Given the description of an element on the screen output the (x, y) to click on. 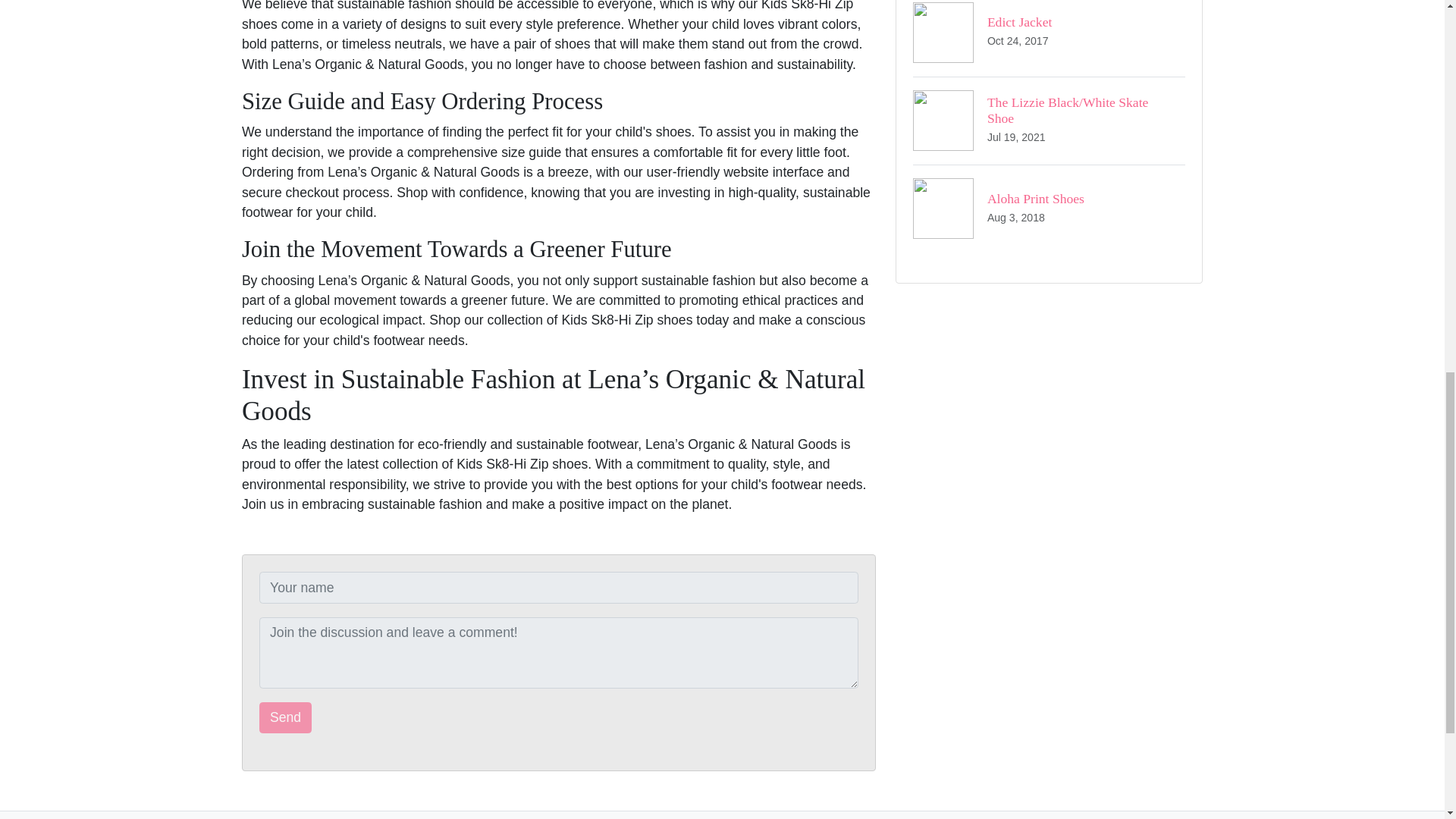
Send (285, 717)
Send (1048, 38)
